Given the description of an element on the screen output the (x, y) to click on. 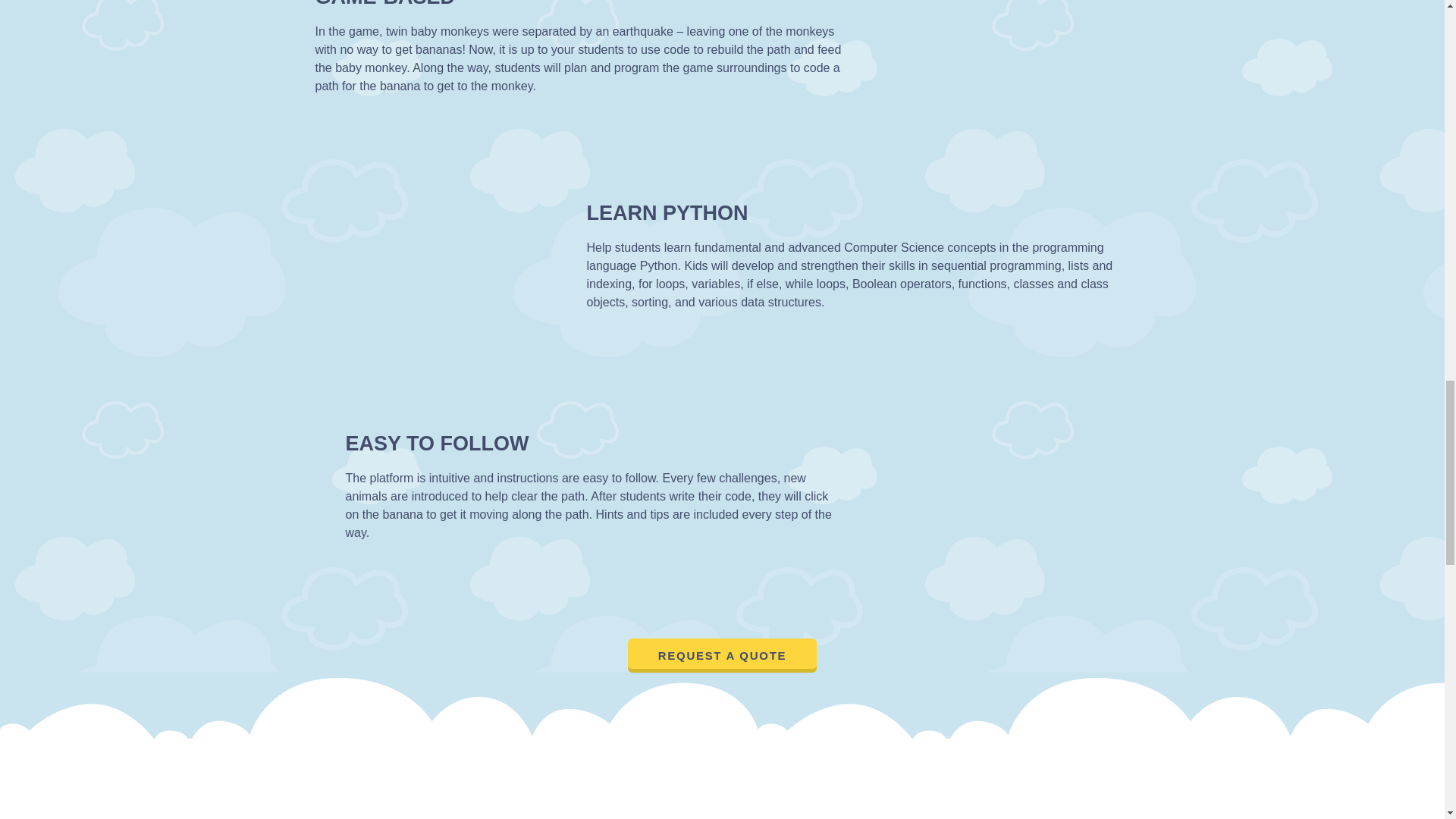
Page 1 (594, 504)
Page 1 (587, 58)
Page 1 (857, 275)
